Given the description of an element on the screen output the (x, y) to click on. 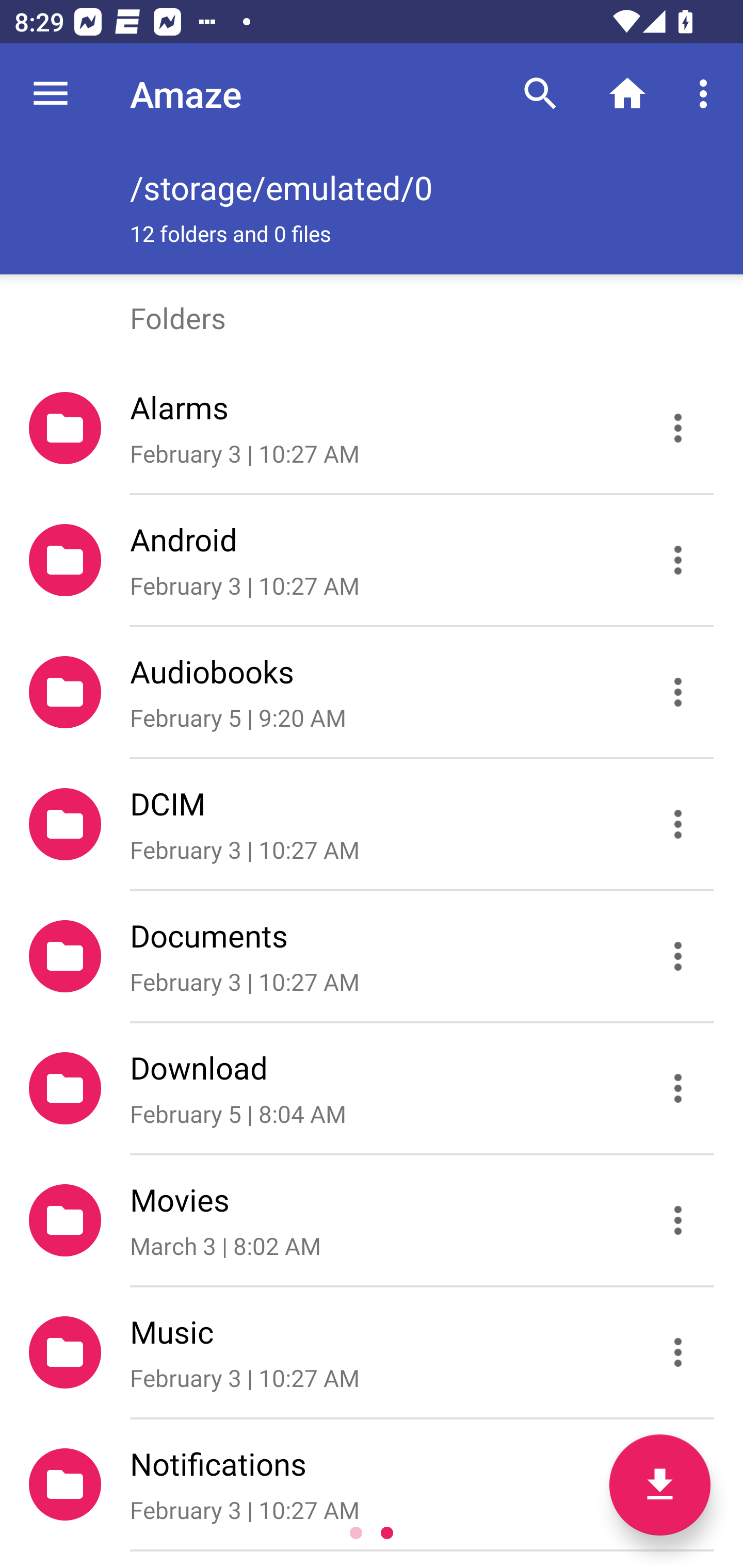
Navigate up (50, 93)
Search (540, 93)
Home (626, 93)
More options (706, 93)
Alarms February 3 | 10:27 AM (371, 427)
Android February 3 | 10:27 AM (371, 560)
Audiobooks February 5 | 9:20 AM (371, 692)
DCIM February 3 | 10:27 AM (371, 823)
Documents February 3 | 10:27 AM (371, 955)
Download February 5 | 8:04 AM (371, 1088)
Movies March 3 | 8:02 AM (371, 1220)
Music February 3 | 10:27 AM (371, 1352)
Notifications February 3 | 10:27 AM (371, 1484)
